Given the description of an element on the screen output the (x, y) to click on. 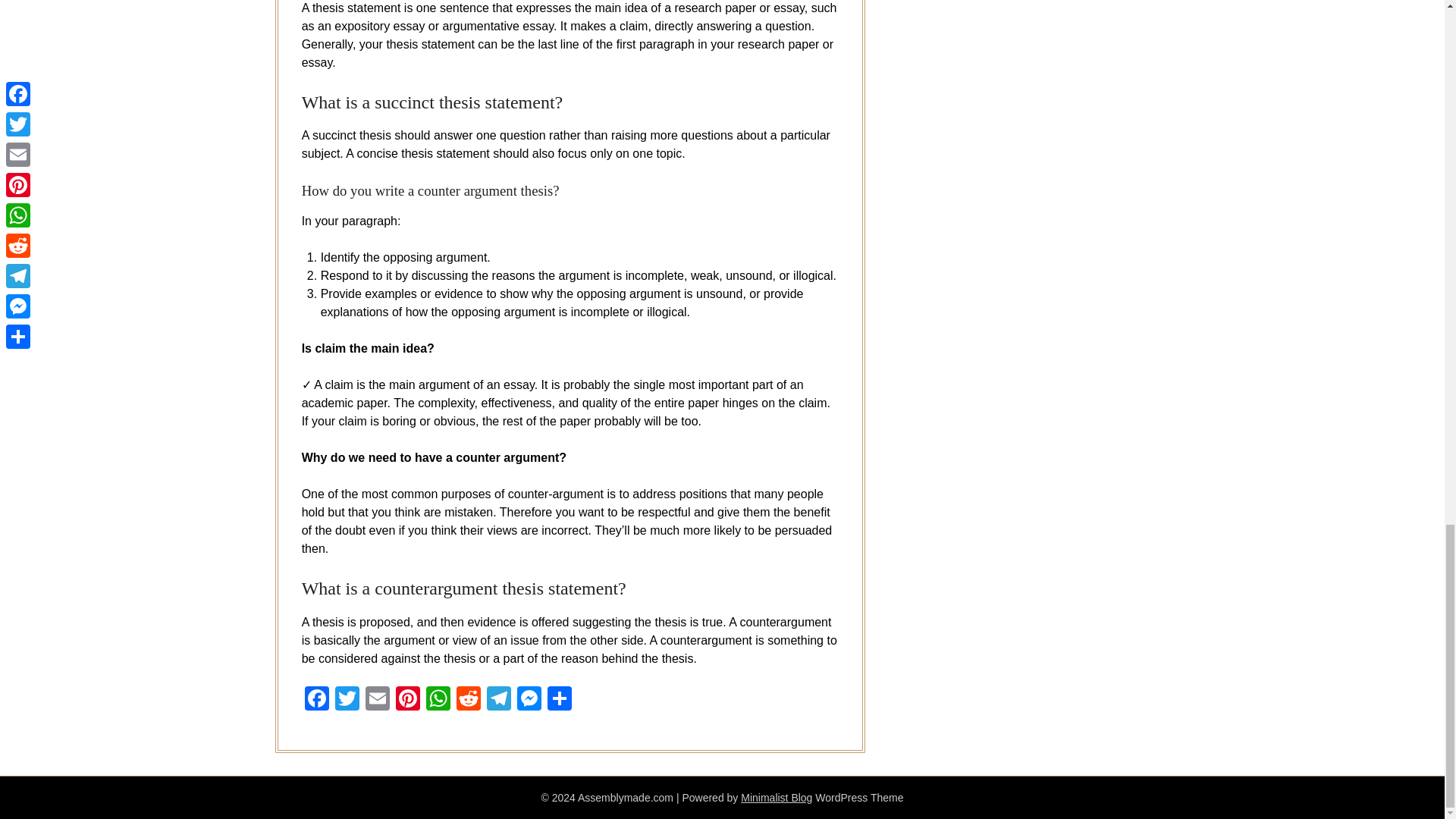
Email (377, 700)
Email (377, 700)
Telegram (498, 700)
Minimalist Blog (776, 797)
Reddit (467, 700)
Messenger (528, 700)
Facebook (316, 700)
Pinterest (408, 700)
Reddit (467, 700)
Twitter (346, 700)
